Given the description of an element on the screen output the (x, y) to click on. 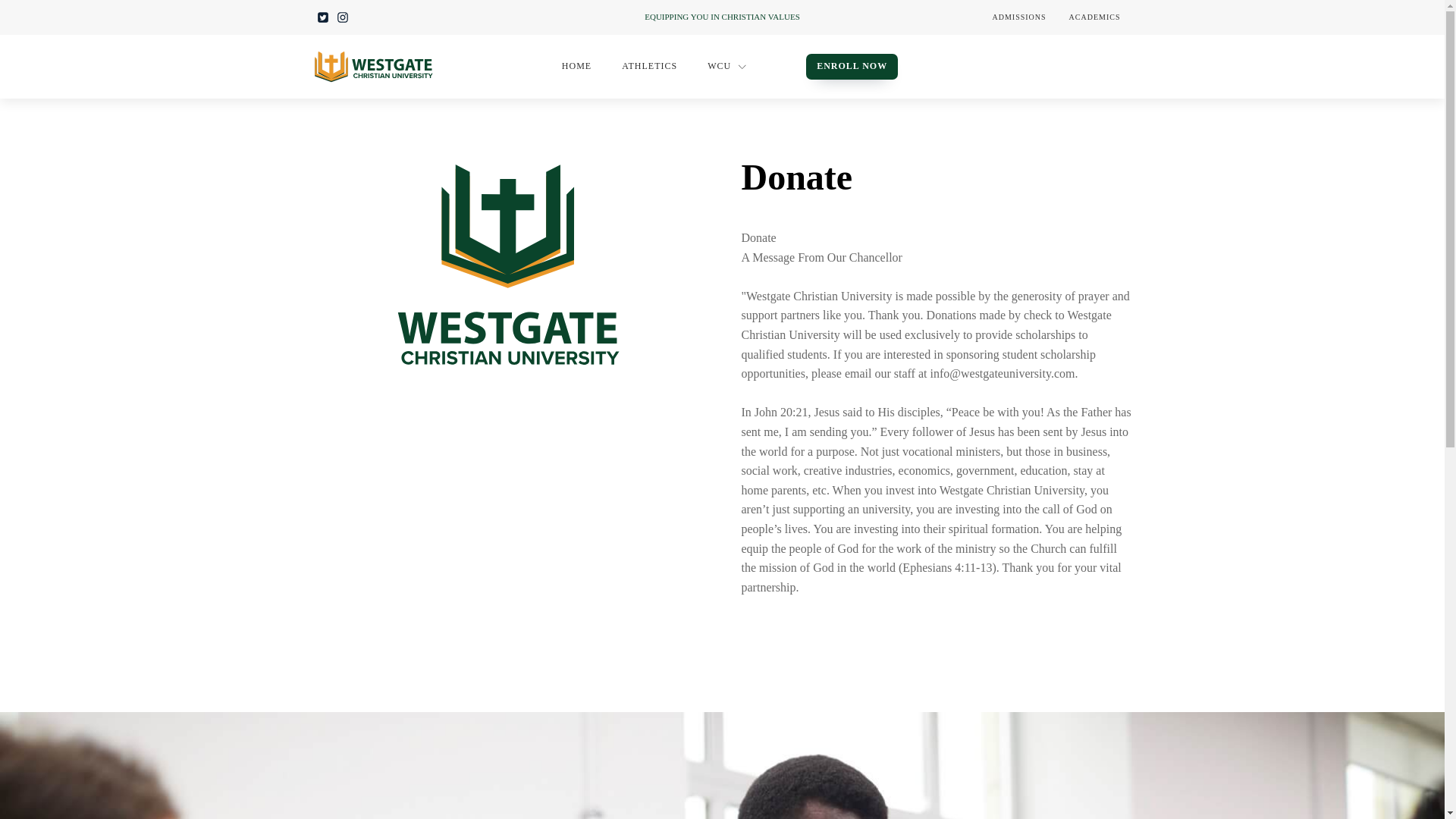
ACADEMICS (1095, 17)
HOME (576, 65)
ATHLETICS (649, 65)
ADMISSIONS (1018, 17)
ENROLL NOW (852, 66)
